Given the description of an element on the screen output the (x, y) to click on. 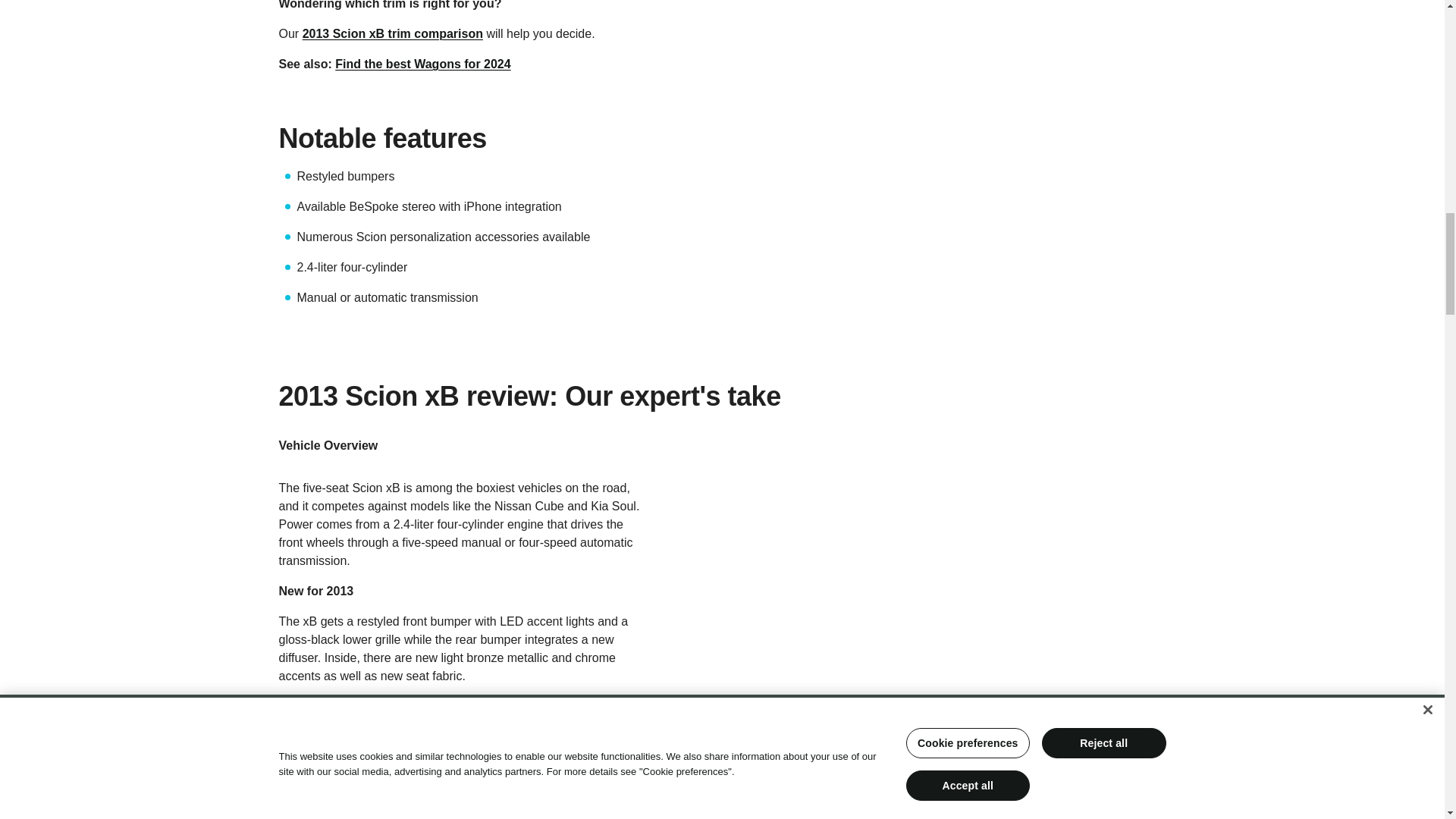
2013 Scion xB trim comparison (392, 33)
Find the best Wagons for 2024 (422, 63)
